Given the description of an element on the screen output the (x, y) to click on. 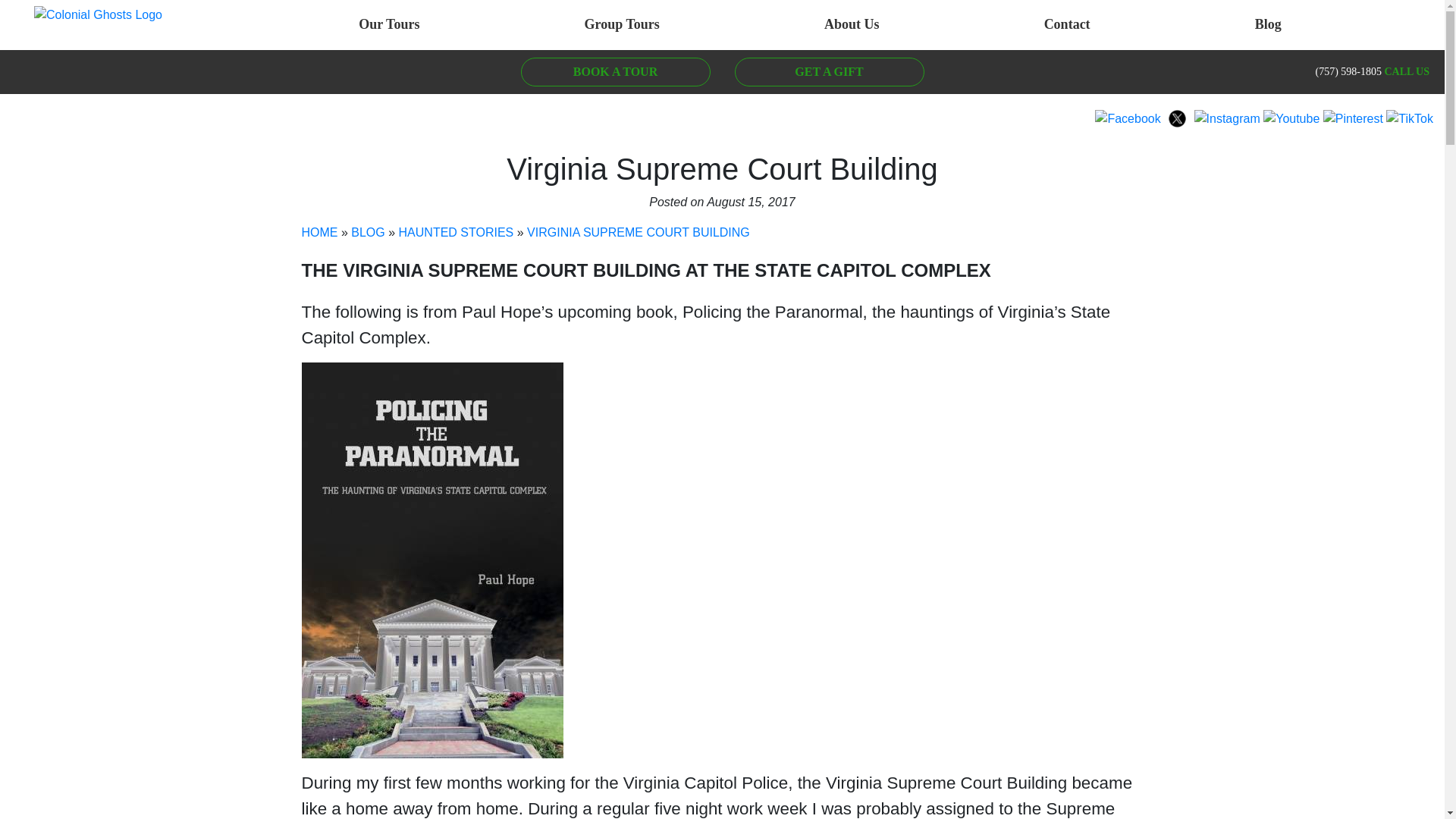
Contact (1067, 23)
GET A GIFT (828, 71)
Our Tours (388, 23)
Blog (1268, 23)
About Us (851, 23)
Group Tours (621, 23)
BOOK A TOUR (614, 71)
CALL US (1406, 71)
